Given the description of an element on the screen output the (x, y) to click on. 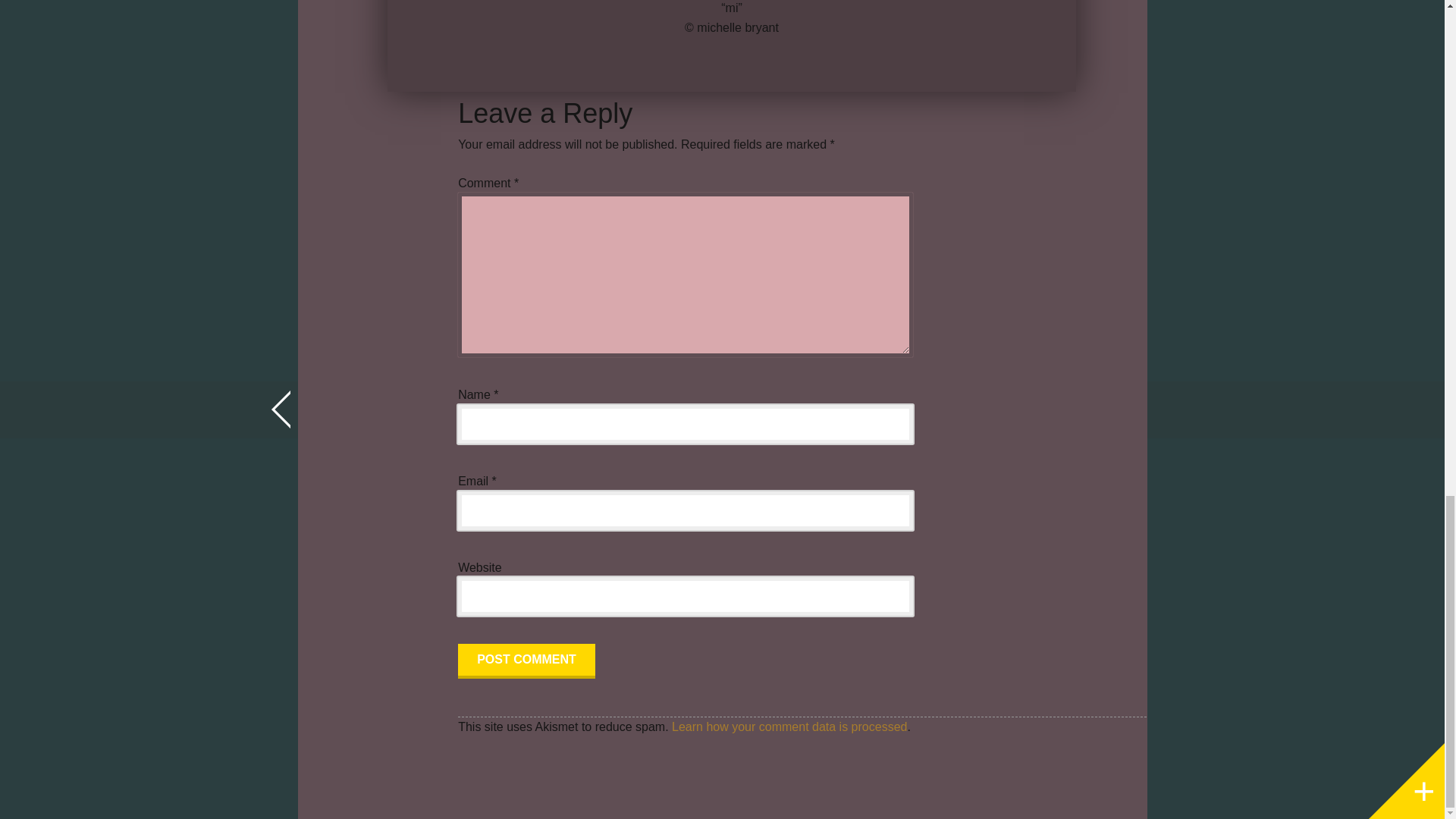
Learn how your comment data is processed (789, 726)
Post Comment (526, 660)
Post Comment (526, 660)
